Given the description of an element on the screen output the (x, y) to click on. 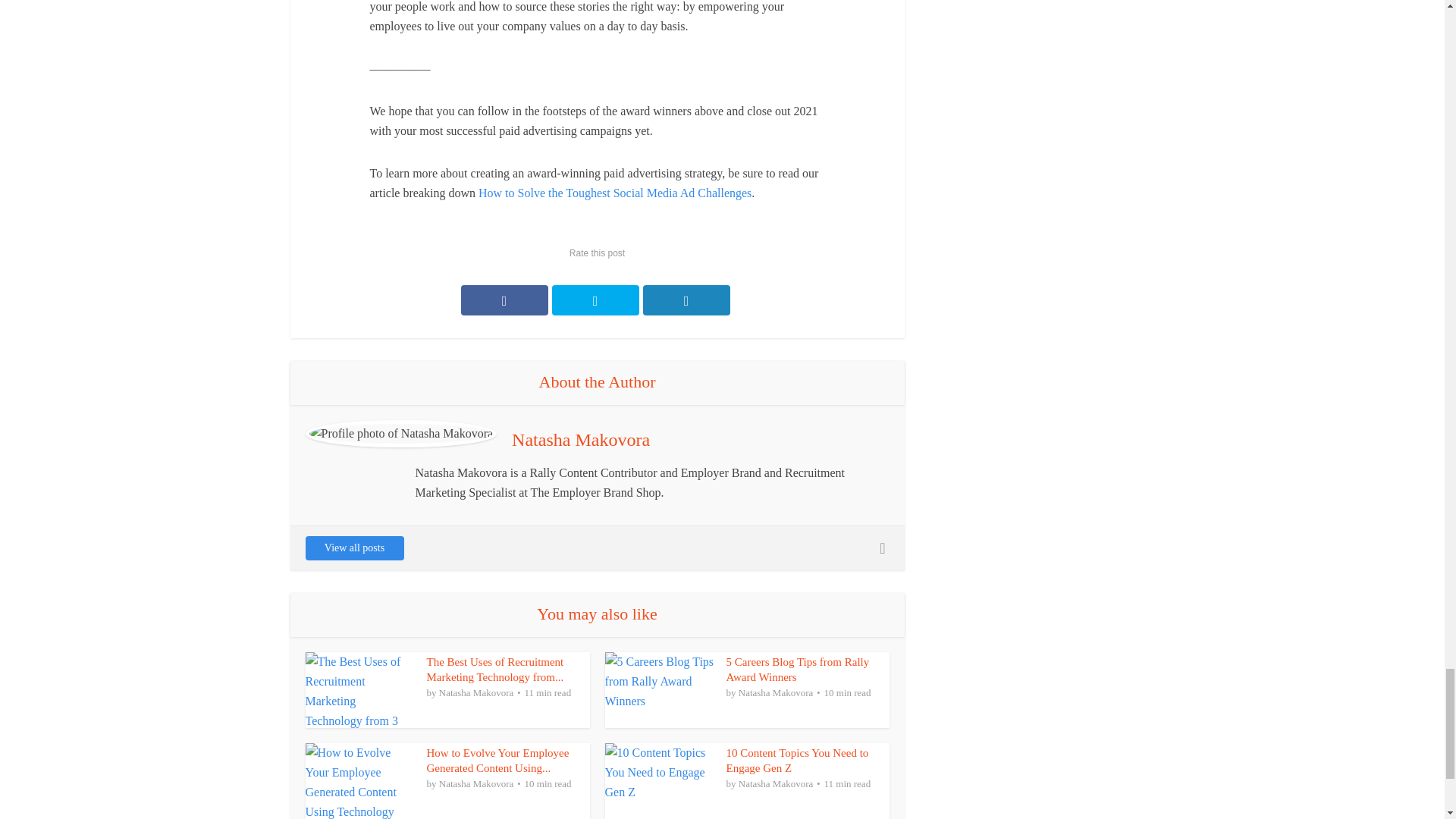
5 Careers Blog Tips from Rally Award Winners (797, 669)
10 Content Topics You Need to Engage Gen Z (797, 759)
